Given the description of an element on the screen output the (x, y) to click on. 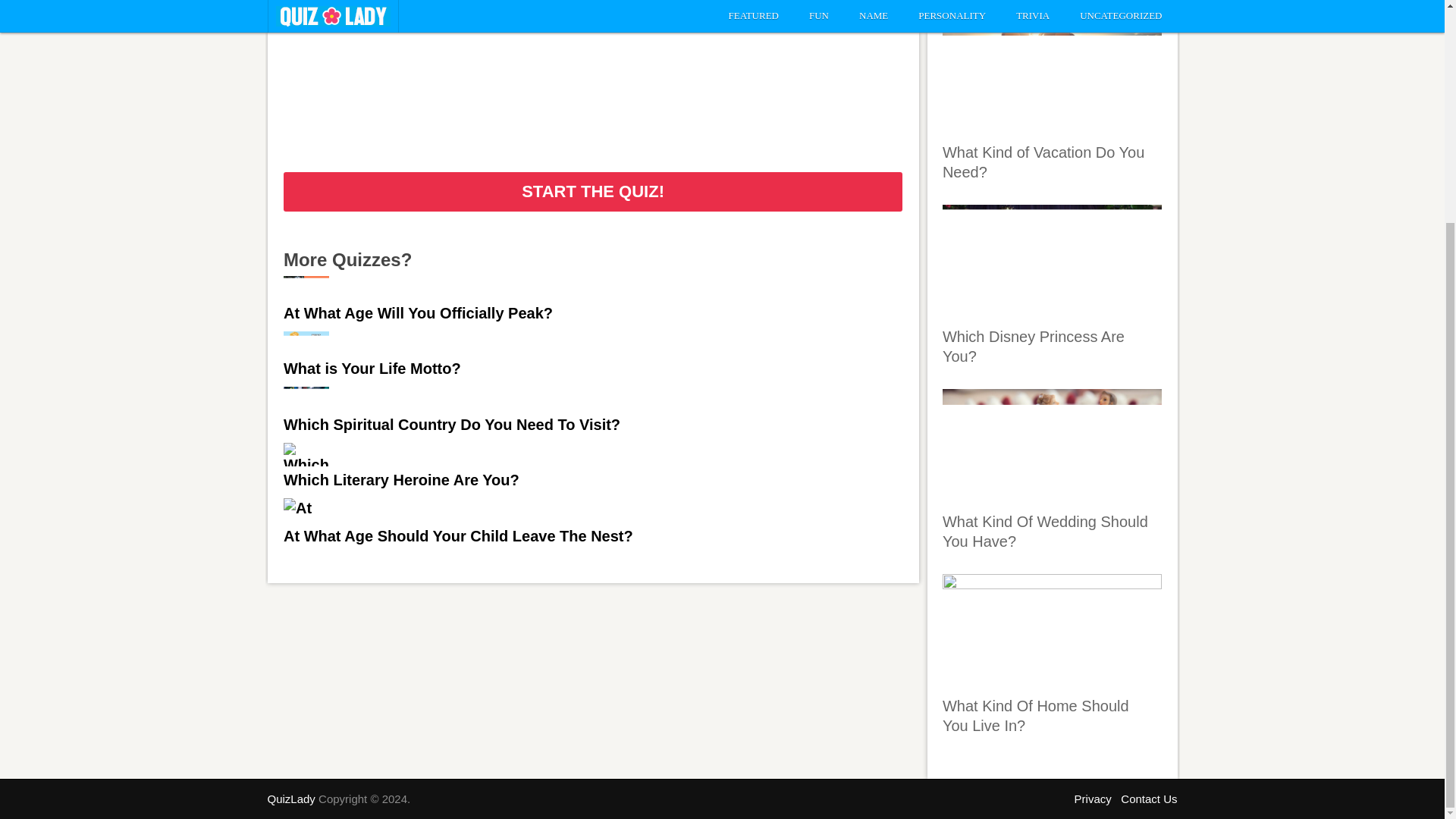
What Kind of Vacation Do You Need? (1043, 162)
At What Age Should Your Child Leave The Nest? (458, 536)
Contact Us (1148, 798)
Which Disney Princess Are You? (1033, 346)
START THE QUIZ! (592, 191)
What Kind Of Home Should You Live In? (1051, 630)
What is Your Life Motto? (372, 368)
What Kind Of Wedding Should You Have? (1045, 530)
What Kind of Vacation Do You Need? (1051, 76)
What Kind Of Home Should You Live In? (1035, 715)
